Given the description of an element on the screen output the (x, y) to click on. 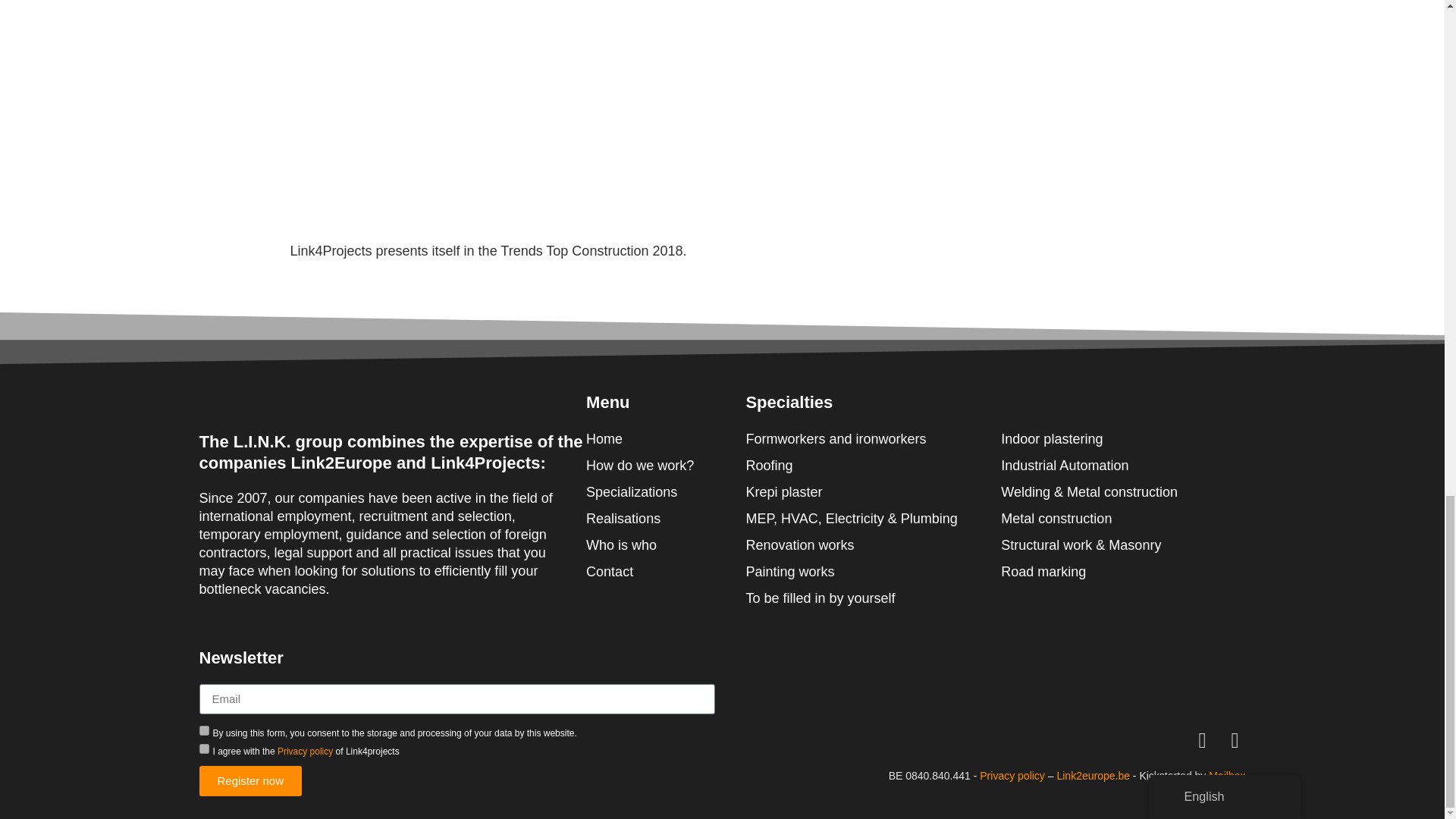
Specializations (665, 491)
Realisations (665, 518)
Contact (665, 571)
Who is who (665, 545)
How do we work? (665, 465)
Home (665, 438)
